Given the description of an element on the screen output the (x, y) to click on. 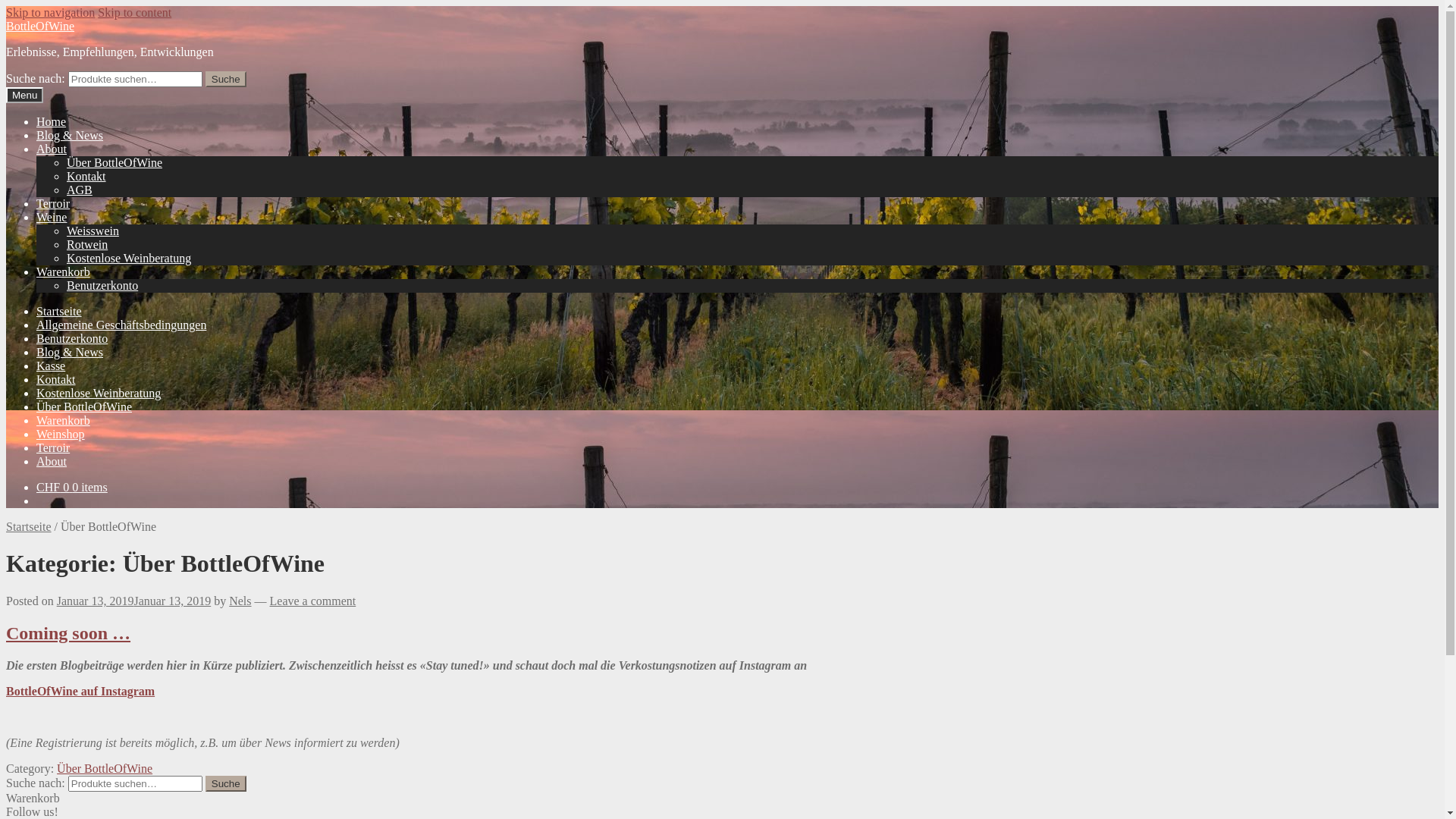
AGB Element type: text (79, 189)
BottleOfWine auf Instagram Element type: text (80, 690)
Kasse Element type: text (50, 365)
Kostenlose Weinberatung Element type: text (128, 257)
Blog & News Element type: text (69, 134)
About Element type: text (51, 148)
Blog & News Element type: text (69, 351)
Skip to navigation Element type: text (50, 12)
Benutzerkonto Element type: text (71, 338)
Startseite Element type: text (58, 310)
Menu Element type: text (24, 95)
Kontakt Element type: text (86, 175)
Kontakt Element type: text (55, 379)
CHF 0 0 items Element type: text (71, 486)
BottleOfWine Element type: text (40, 25)
Terroir Element type: text (52, 203)
About Element type: text (51, 461)
Januar 13, 2019Januar 13, 2019 Element type: text (133, 600)
Terroir Element type: text (52, 447)
Home Element type: text (50, 121)
Weinshop Element type: text (60, 433)
Startseite Element type: text (28, 526)
Warenkorb Element type: text (63, 271)
Rotwein Element type: text (86, 244)
Weisswein Element type: text (92, 230)
Warenkorb Element type: text (63, 420)
Weine Element type: text (51, 216)
Benutzerkonto Element type: text (102, 285)
Nels Element type: text (240, 600)
Kostenlose Weinberatung Element type: text (98, 392)
Suche Element type: text (225, 79)
Skip to content Element type: text (134, 12)
Leave a comment Element type: text (312, 600)
Suche Element type: text (225, 783)
